Given the description of an element on the screen output the (x, y) to click on. 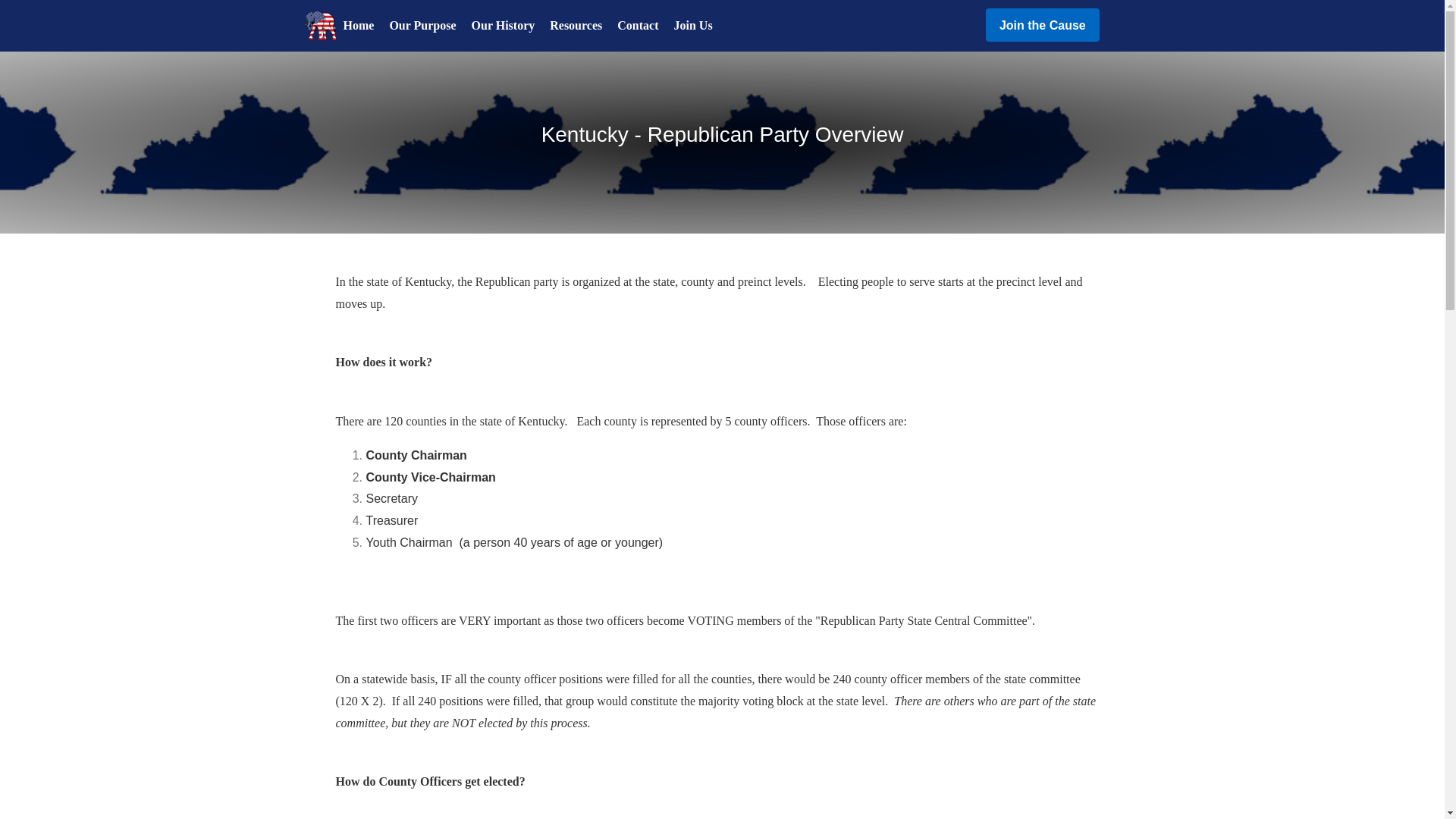
Our Purpose (422, 25)
Resources (575, 25)
Join the Cause (1042, 24)
Contact (637, 25)
Home (357, 25)
Our History (503, 25)
Join Us (692, 25)
